Given the description of an element on the screen output the (x, y) to click on. 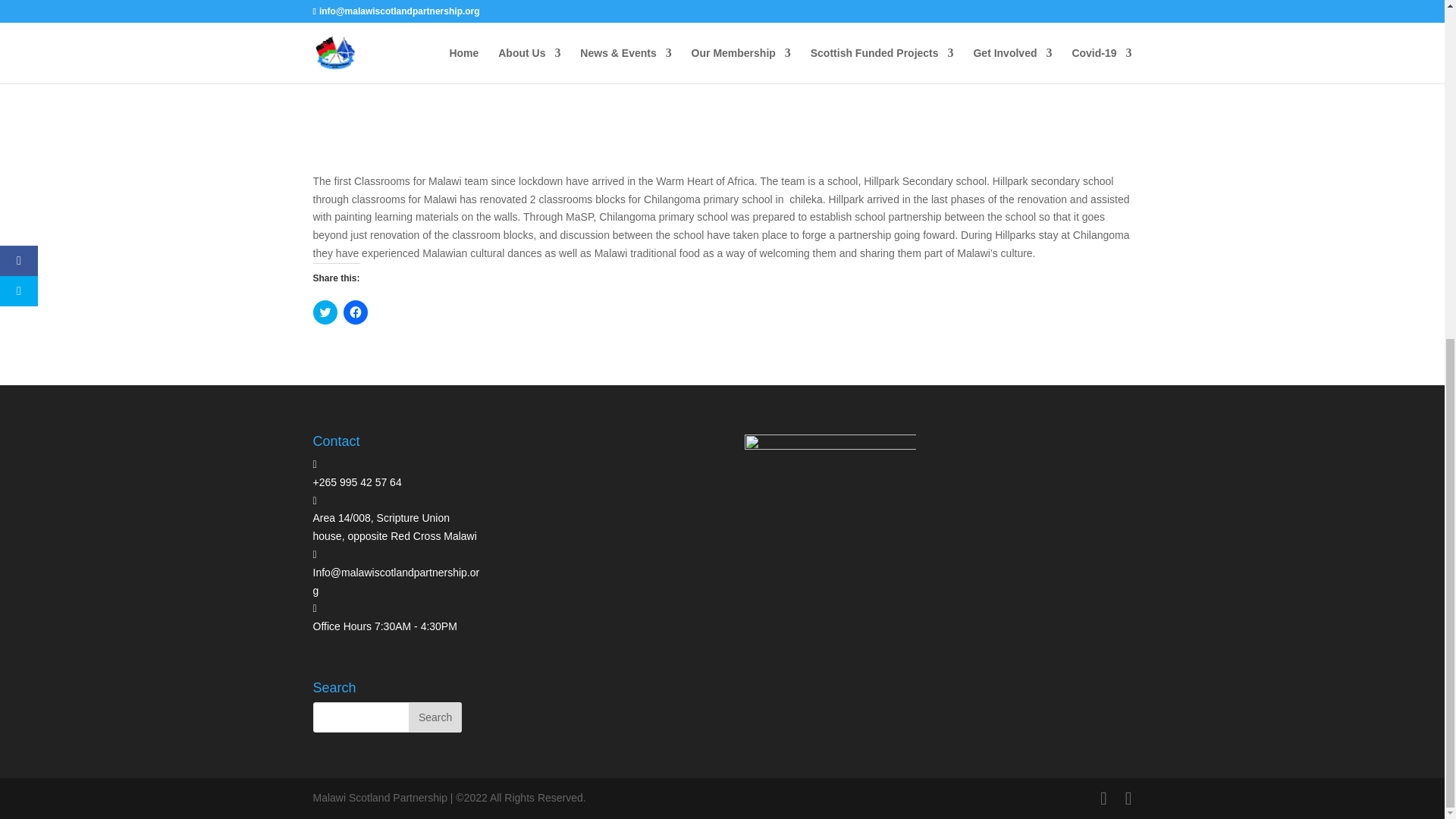
Click to share on Facebook (354, 312)
Search (435, 716)
Click to share on Twitter (324, 312)
